Given the description of an element on the screen output the (x, y) to click on. 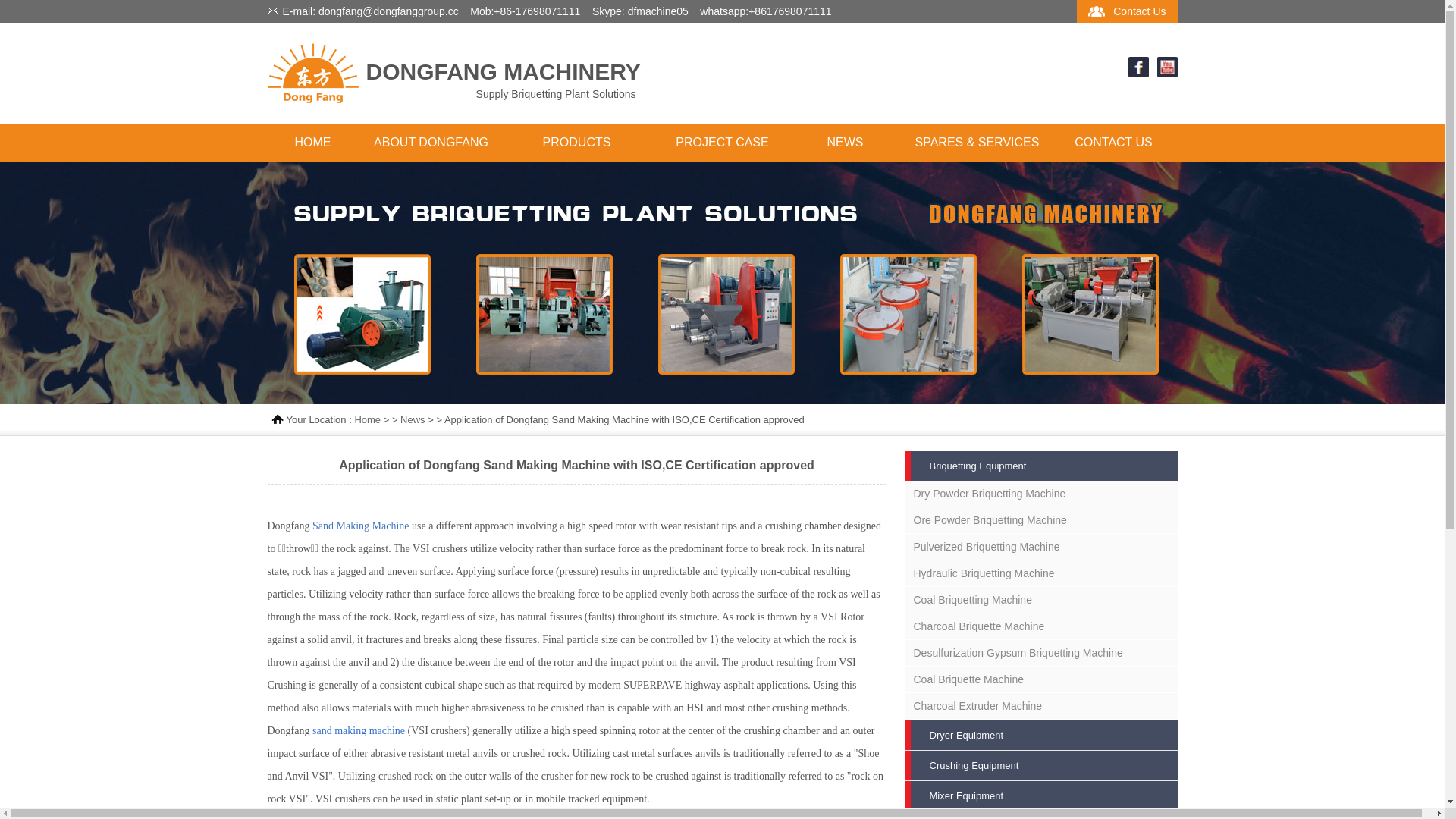
dongfang@dongfanggroup.cc Element type: text (388, 11)
Charcoal Extruder Machine Element type: text (1039, 705)
Sand Making Machine Element type: text (361, 525)
Pulverized Briquetting Machine Element type: text (1039, 546)
SPARES & SERVICES Element type: text (976, 142)
Dry Powder Briquetting Machine Element type: text (1039, 493)
Charcoal Briquette Machine Element type: text (1039, 626)
NEWS Element type: text (844, 142)
News Element type: text (412, 419)
Contact Us Element type: text (1138, 11)
sand making machine Element type: text (358, 730)
Mixer Equipment Element type: text (1039, 795)
Desulfurization Gypsum Briquetting Machine Element type: text (1039, 652)
PRODUCTS Element type: text (576, 142)
youtube Element type: hover (1167, 73)
fb Element type: hover (1138, 73)
Coal Briquetting Machine Element type: text (1039, 599)
CONTACT US Element type: text (1112, 142)
Crushing Equipment Element type: text (1039, 765)
PROJECT CASE Element type: text (721, 142)
ABOUT DONGFANG Element type: text (430, 142)
HOME Element type: text (311, 142)
Dryer Equipment Element type: text (1039, 734)
Hydraulic Briquetting Machine Element type: text (1039, 573)
Briquetting Equipment Element type: text (1039, 465)
Home Element type: text (367, 419)
Coal Briquette Machine Element type: text (1039, 679)
Ore Powder Briquetting Machine Element type: text (1039, 520)
